Given the description of an element on the screen output the (x, y) to click on. 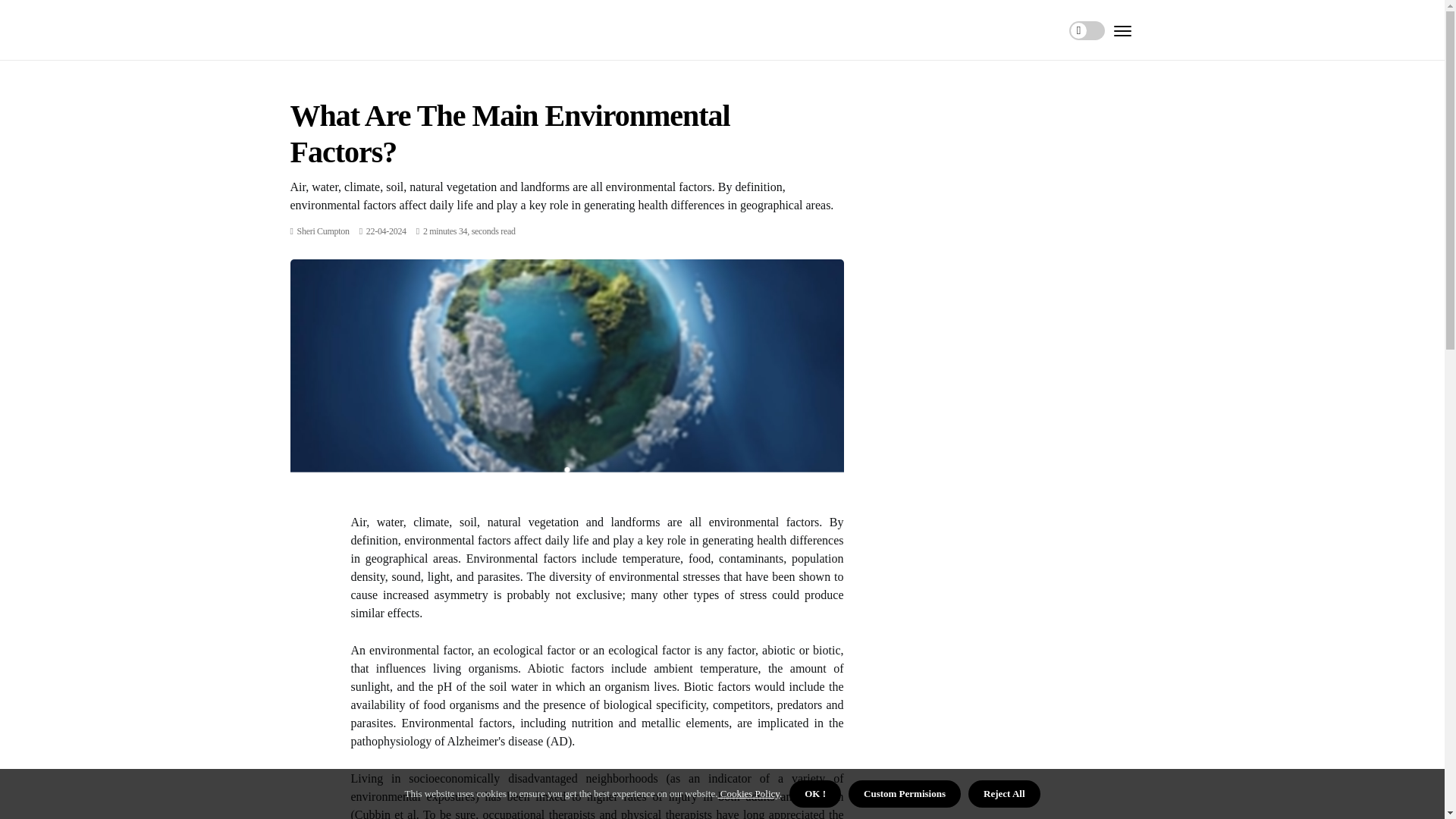
Sheri Cumpton (323, 231)
Posts by Sheri Cumpton (323, 231)
